Given the description of an element on the screen output the (x, y) to click on. 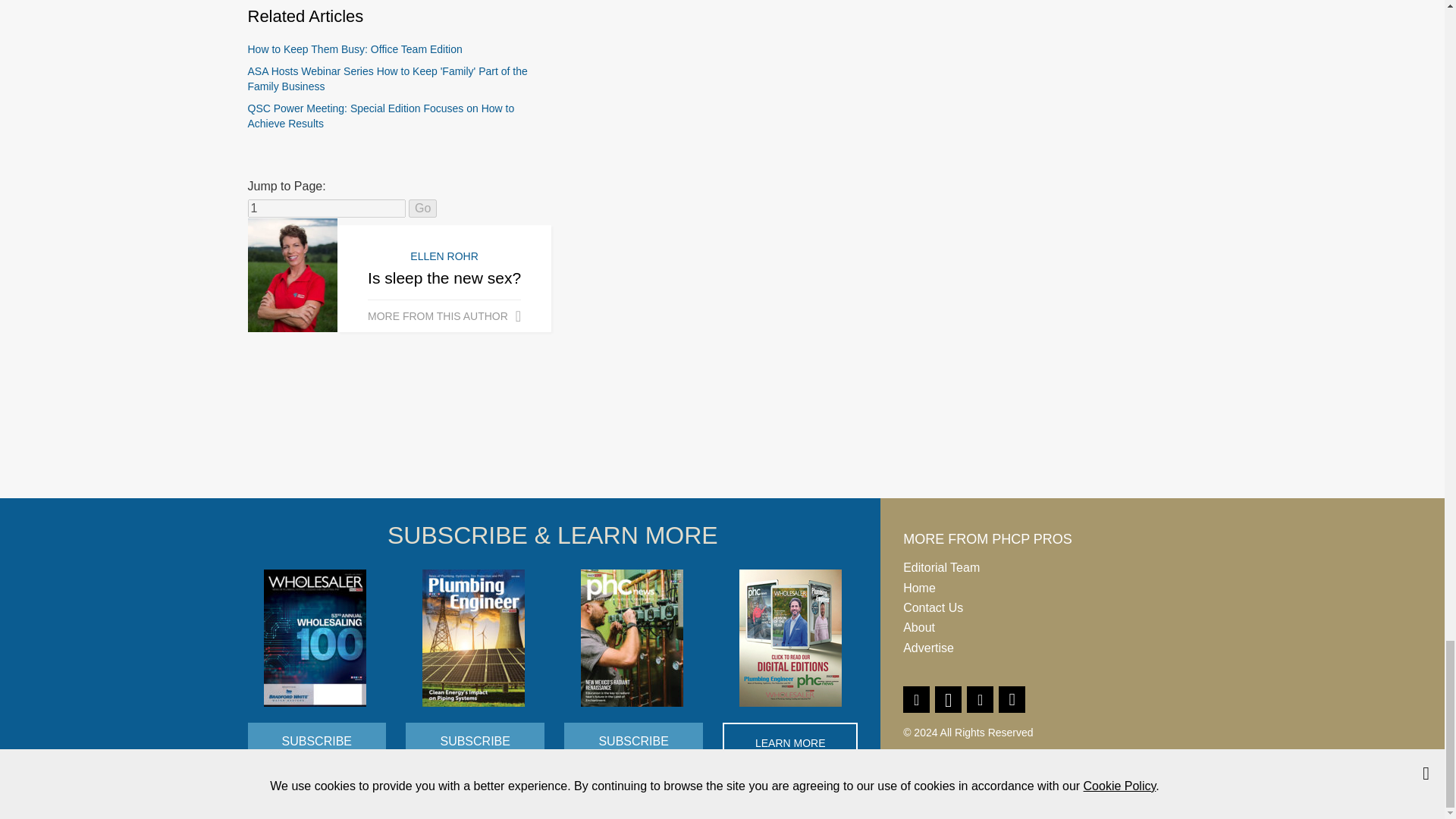
1 (325, 208)
Go (422, 208)
3rd party ad content (721, 441)
